Given the description of an element on the screen output the (x, y) to click on. 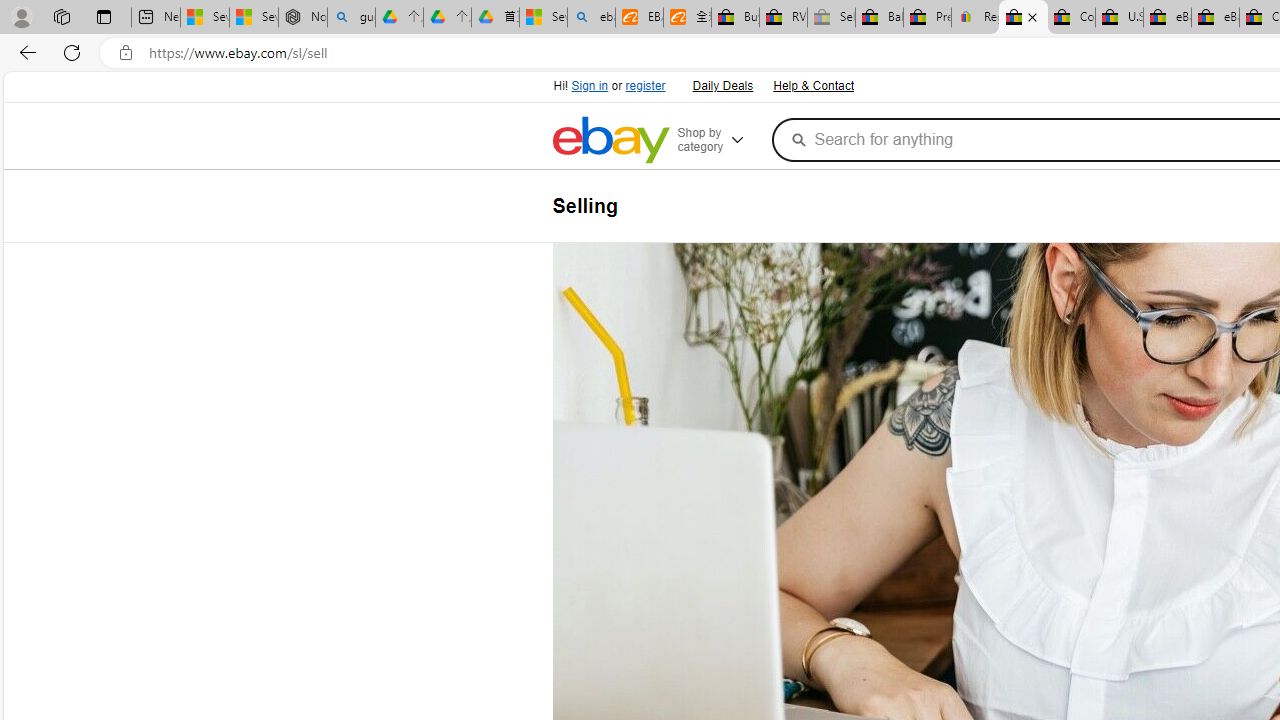
Help & Contact (813, 86)
